Given the description of an element on the screen output the (x, y) to click on. 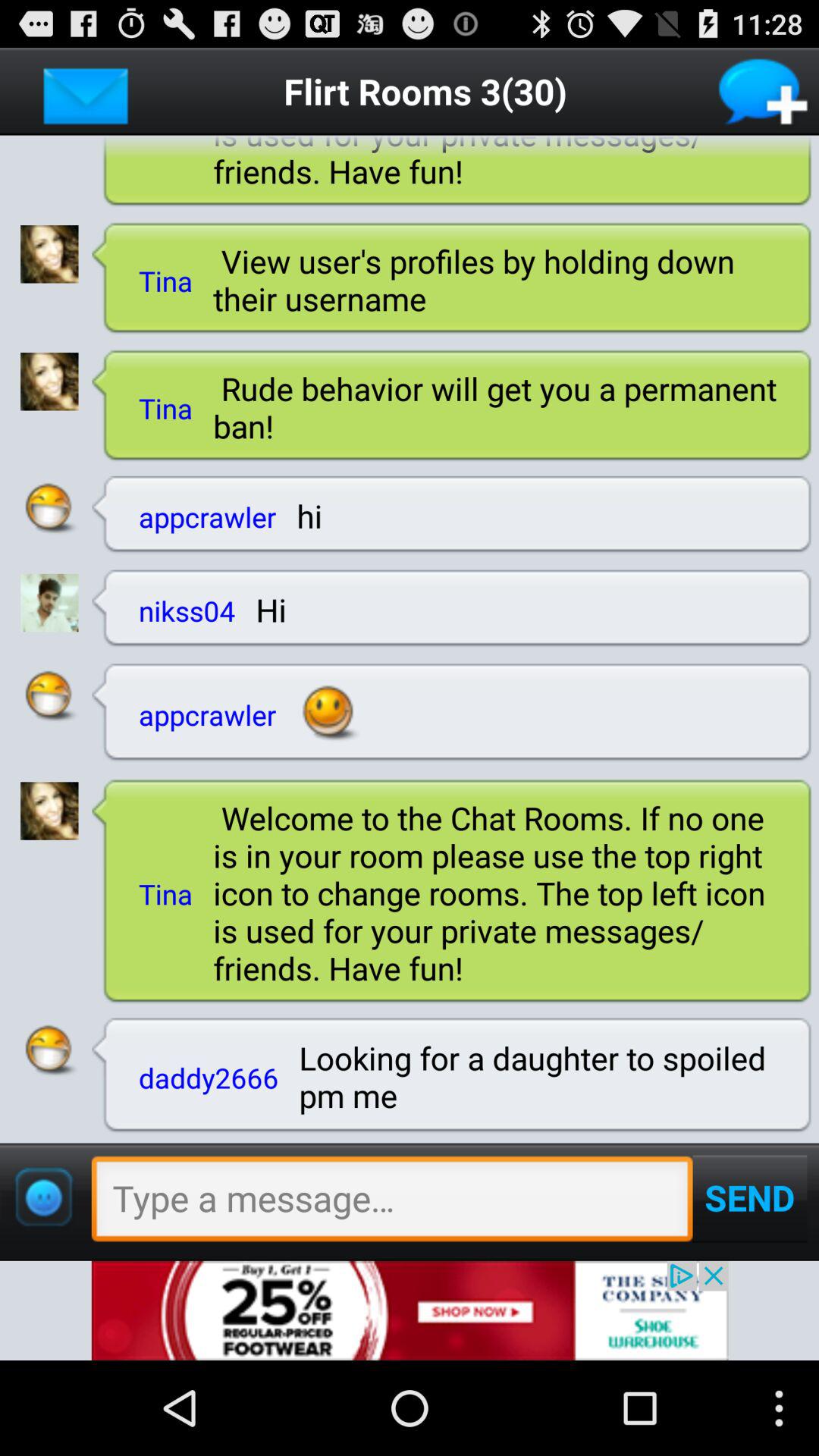
go to new conversation (764, 91)
